Given the description of an element on the screen output the (x, y) to click on. 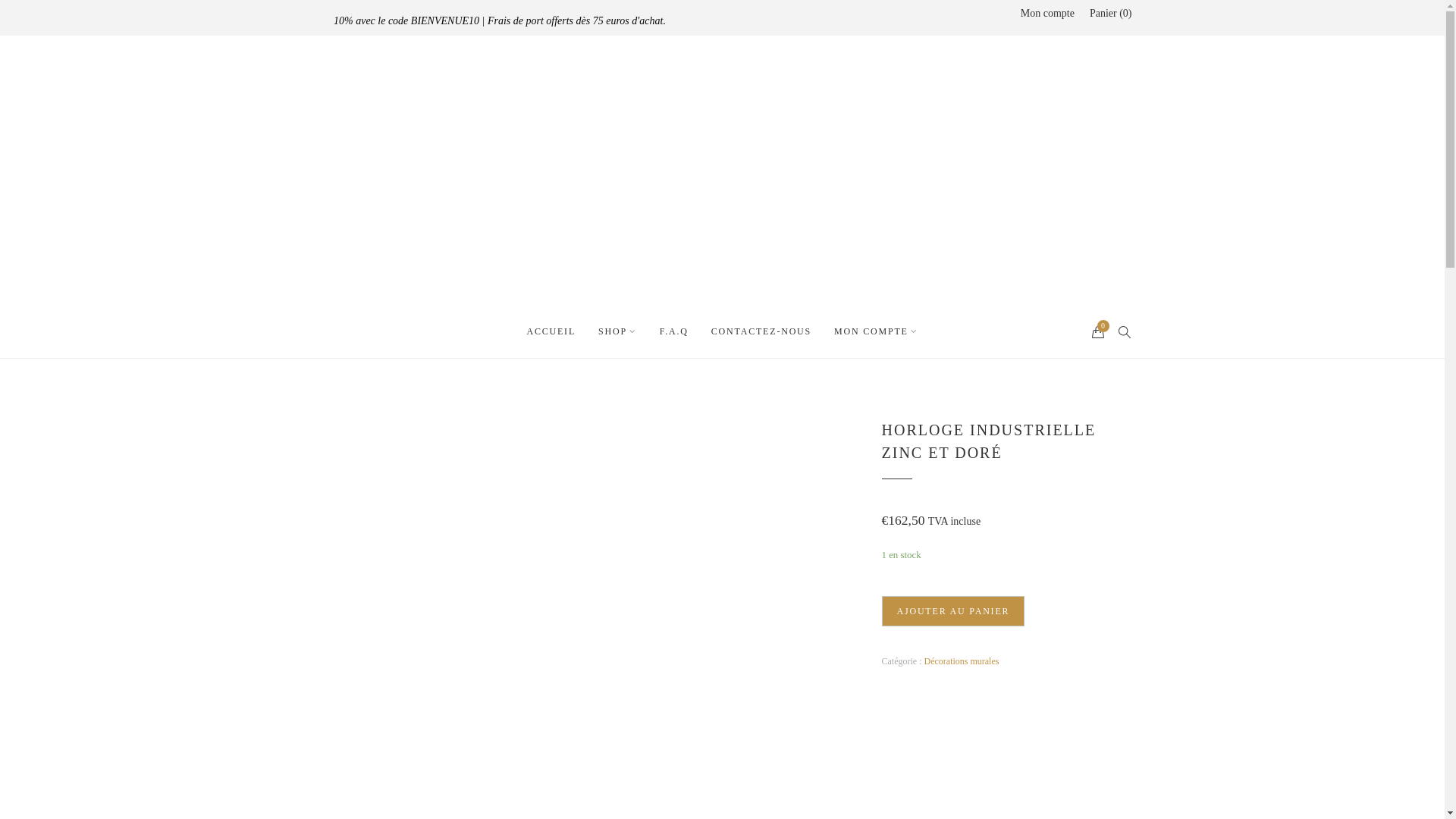
AJOUTER AU PANIER Element type: text (952, 611)
SHOP Element type: text (617, 330)
SEARCH Element type: text (1124, 330)
Panier 0 Element type: text (1110, 13)
ACCUEIL Element type: text (550, 330)
PRODUIT(S) DU PANIER
0 Element type: text (1098, 330)
Mon compte Element type: text (1047, 13)
MON COMPTE Element type: text (876, 330)
Rechercher Element type: text (79, 15)
F.A.Q Element type: text (673, 330)
CONTACTEZ-NOUS Element type: text (761, 330)
